Given the description of an element on the screen output the (x, y) to click on. 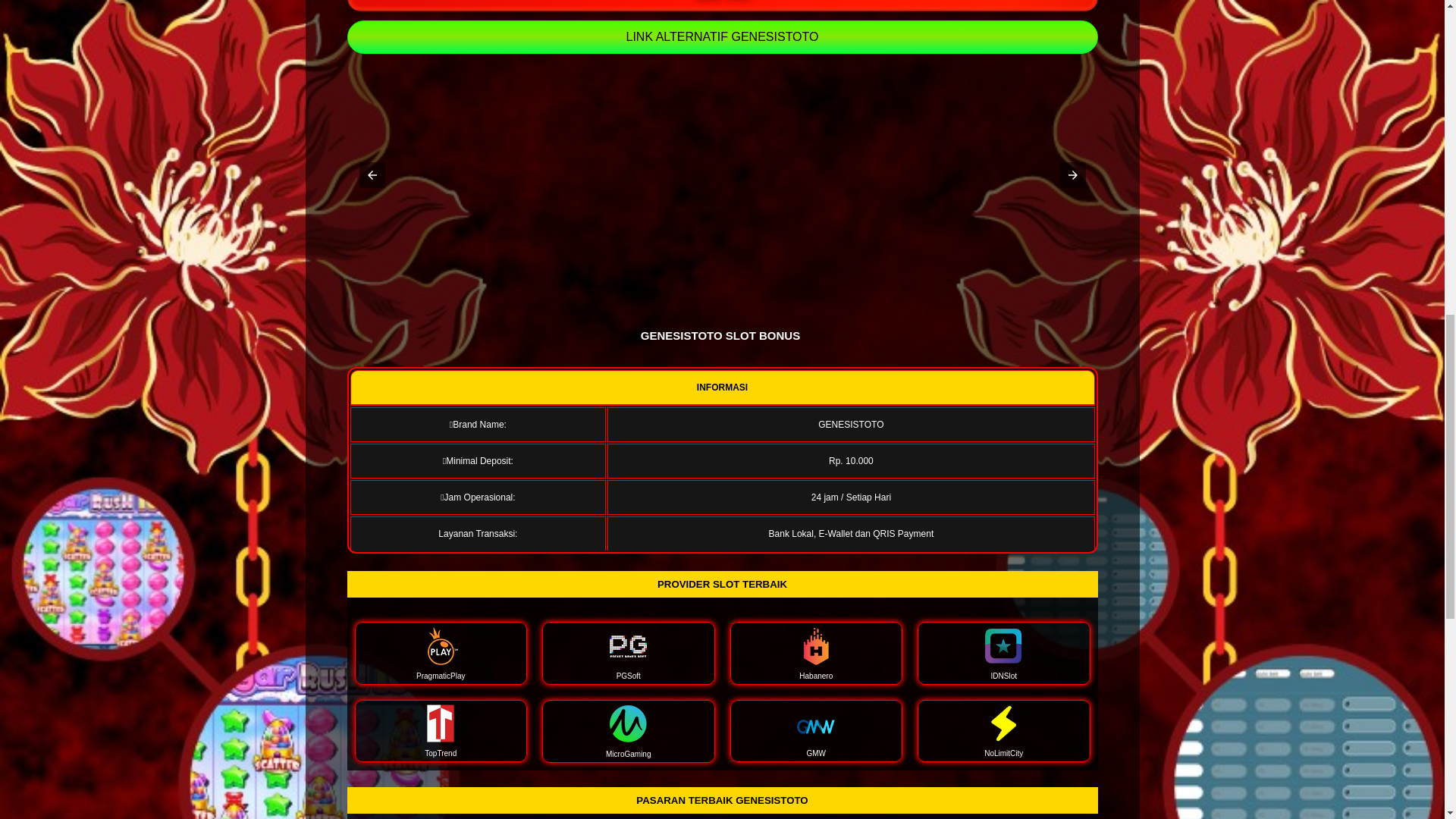
IDNSlot (1003, 652)
DAFTAR (722, 5)
TopTrend (441, 731)
MicroGaming (627, 731)
PragmaticPlay (441, 652)
NoLimitCity (1003, 731)
PGSoft (627, 652)
Habanero (815, 652)
LINK ALTERNATIF GENESISTOTO (722, 36)
GMW (815, 731)
